Given the description of an element on the screen output the (x, y) to click on. 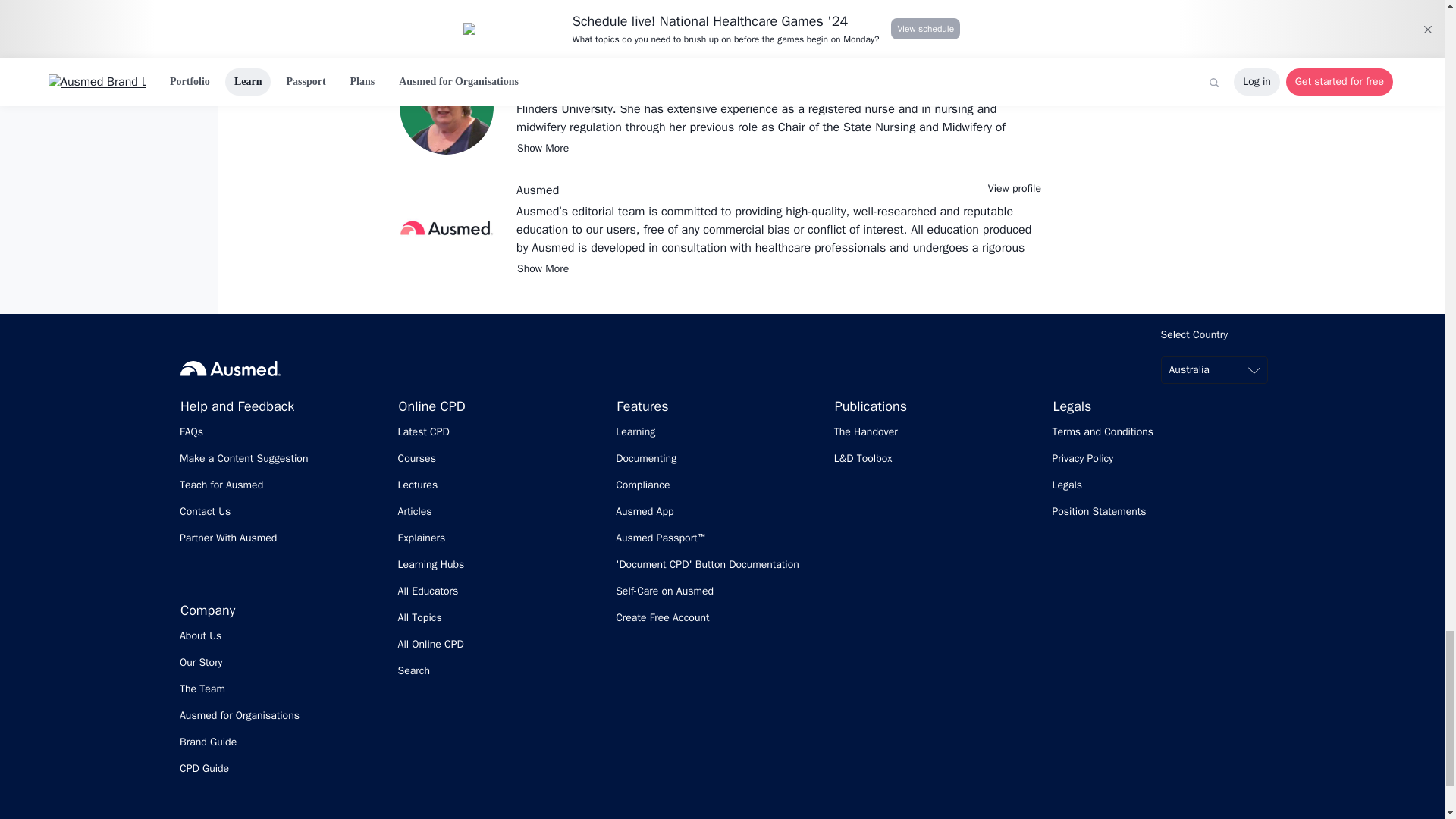
Linda Starr (544, 69)
Ausmed Home (230, 368)
